Given the description of an element on the screen output the (x, y) to click on. 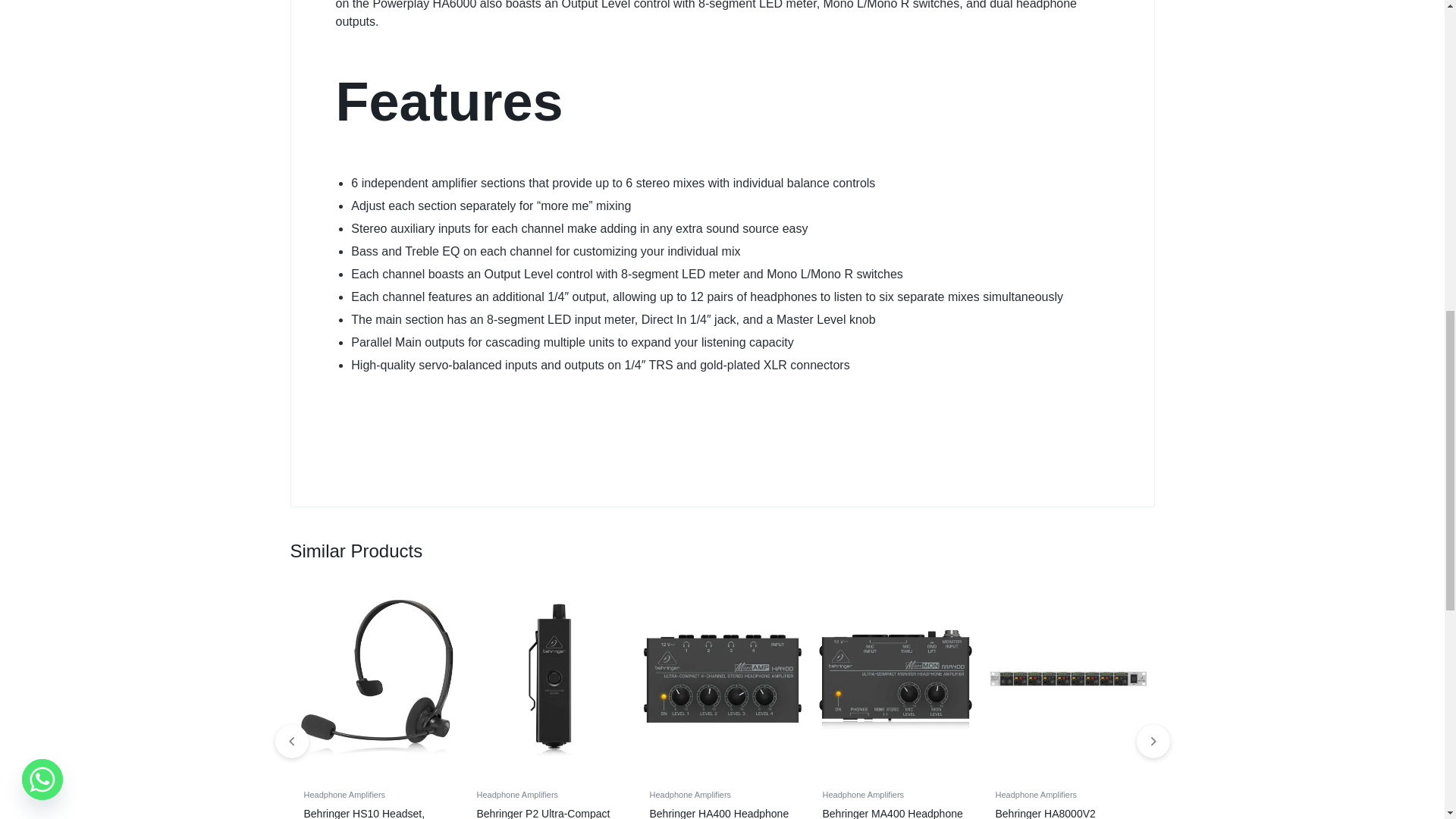
Behringer HA8000V2 Headphone Amplifier 8CH (1067, 678)
Behringer HA400 Headphone Amplifier 4-CH Stereo (721, 678)
Behringer P2 Ultra-Compact Personal In-Ear Monitor Amplifier (548, 678)
Behringer MA400 Headphone Amplifier Ultra-Compact Monitor (894, 678)
